Given the description of an element on the screen output the (x, y) to click on. 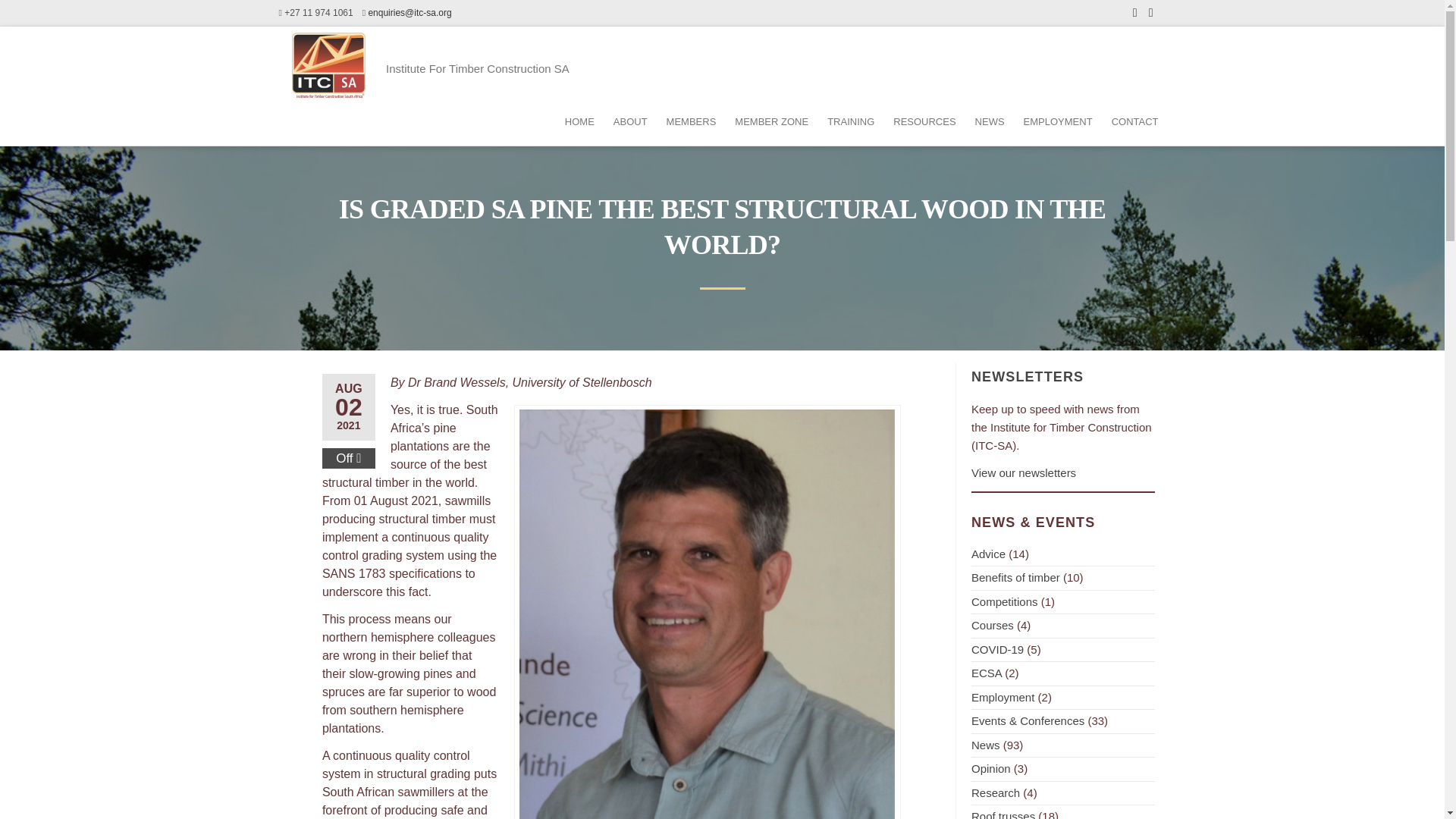
Advice (988, 553)
View our newsletters (1023, 472)
MEMBERS (689, 121)
NEWSLETTERS (1027, 376)
Benefits of timber (1015, 576)
Training (848, 121)
ITC-SA (421, 72)
CONTACT (1133, 121)
Home (577, 121)
EMPLOYMENT (1055, 121)
TRAINING (848, 121)
Member Zone (769, 121)
Courses (992, 625)
Competitions (1004, 601)
Members (689, 121)
